Given the description of an element on the screen output the (x, y) to click on. 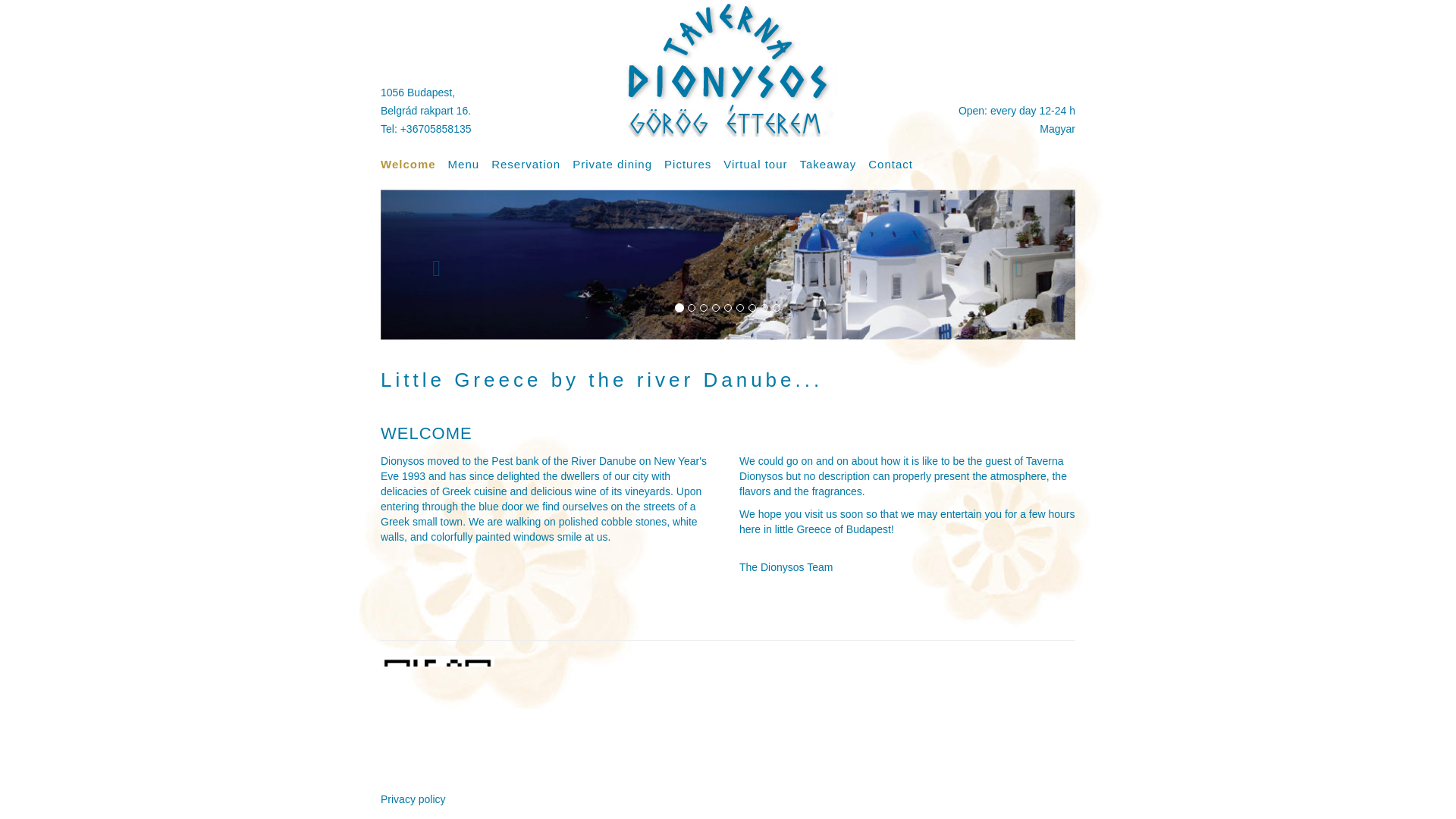
Privacy policy (412, 799)
Welcome (413, 164)
Menu (470, 164)
Private dining (617, 164)
Takeaway (833, 164)
Virtual tour (760, 164)
Pictures (692, 164)
Magyar (1057, 128)
Reservation (532, 164)
Contact (895, 164)
